Given the description of an element on the screen output the (x, y) to click on. 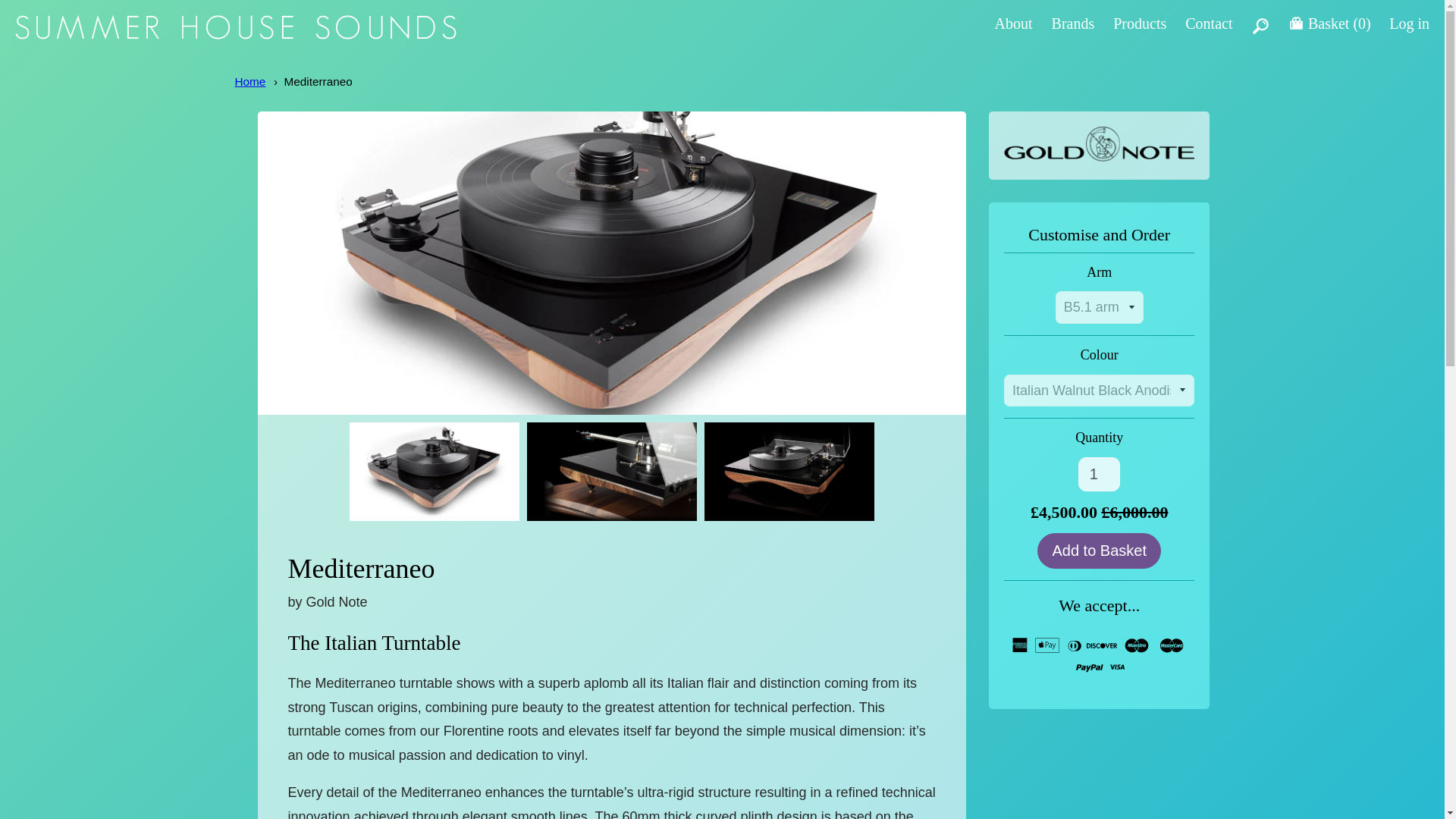
Mediterraneo (317, 81)
Products (1139, 23)
Home (250, 81)
Add to Basket (1098, 550)
Brands (1072, 23)
Contact (1208, 23)
Summer House Sounds (235, 34)
Home (250, 81)
About (1013, 23)
Log in (1409, 23)
